Given the description of an element on the screen output the (x, y) to click on. 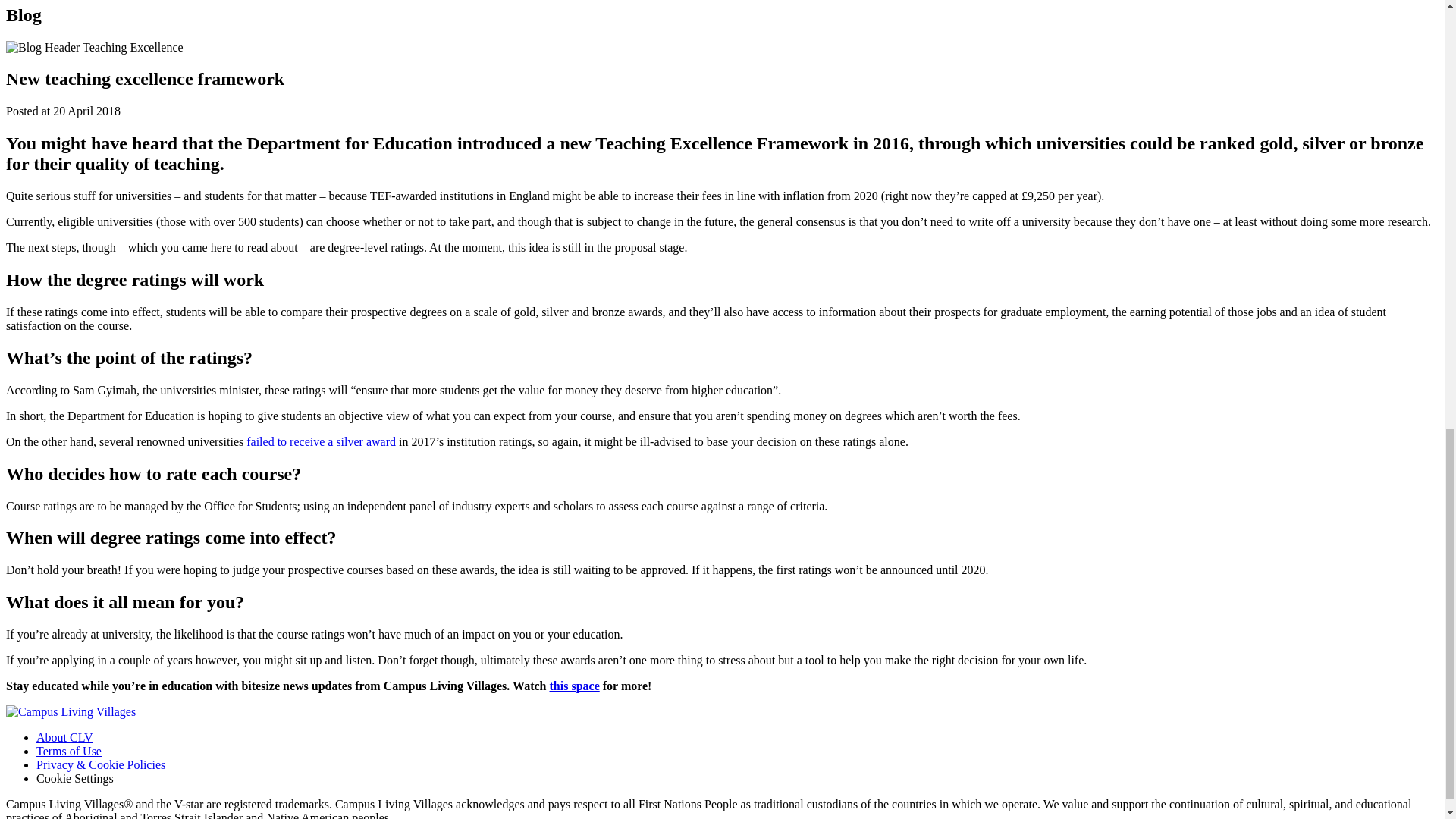
Campus Living Villages Home Page (70, 711)
Terms of Use (68, 750)
Privacy and Cookie Policies (100, 764)
Cookie Settings (74, 778)
